Given the description of an element on the screen output the (x, y) to click on. 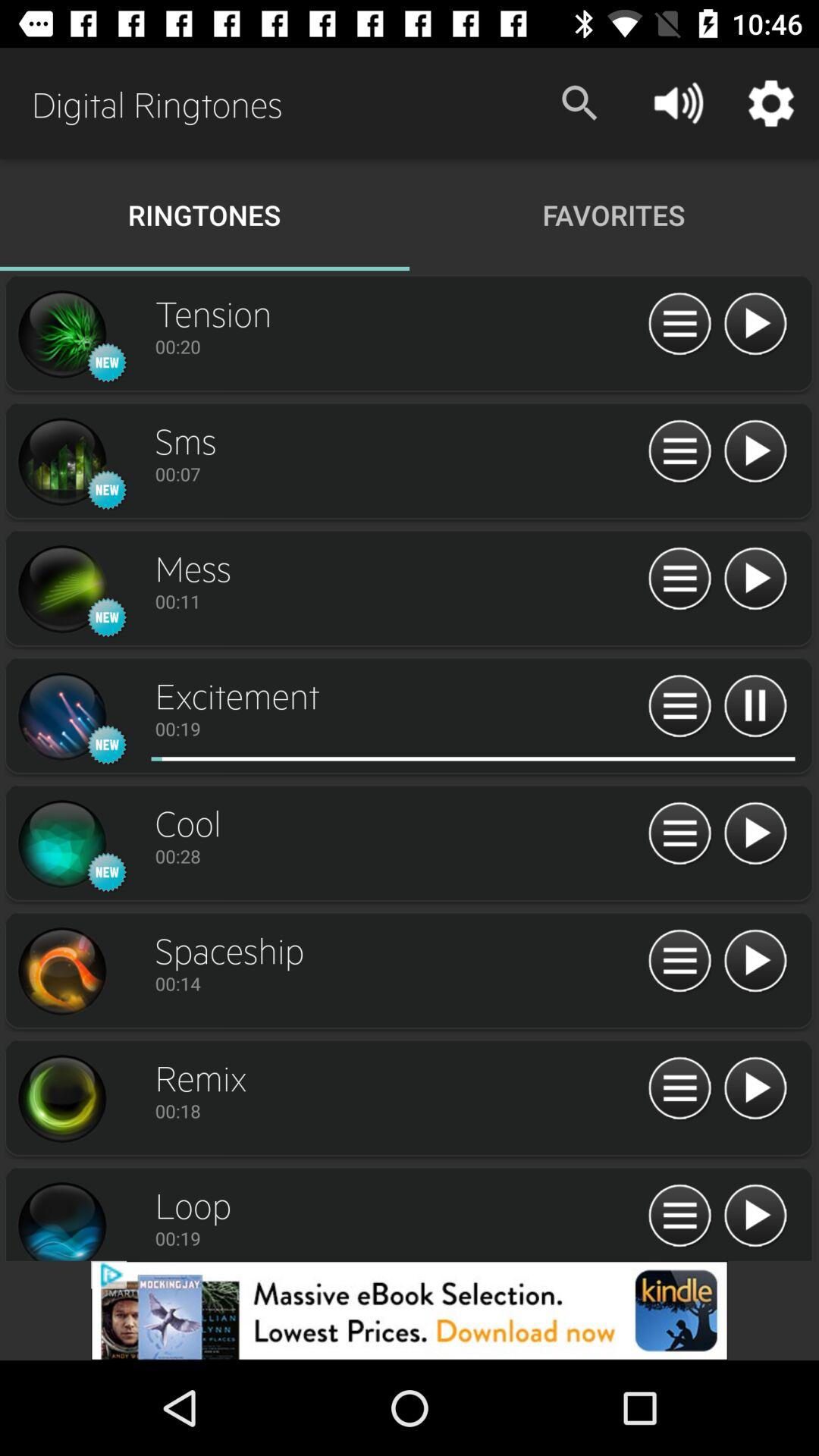
play option (755, 579)
